Given the description of an element on the screen output the (x, y) to click on. 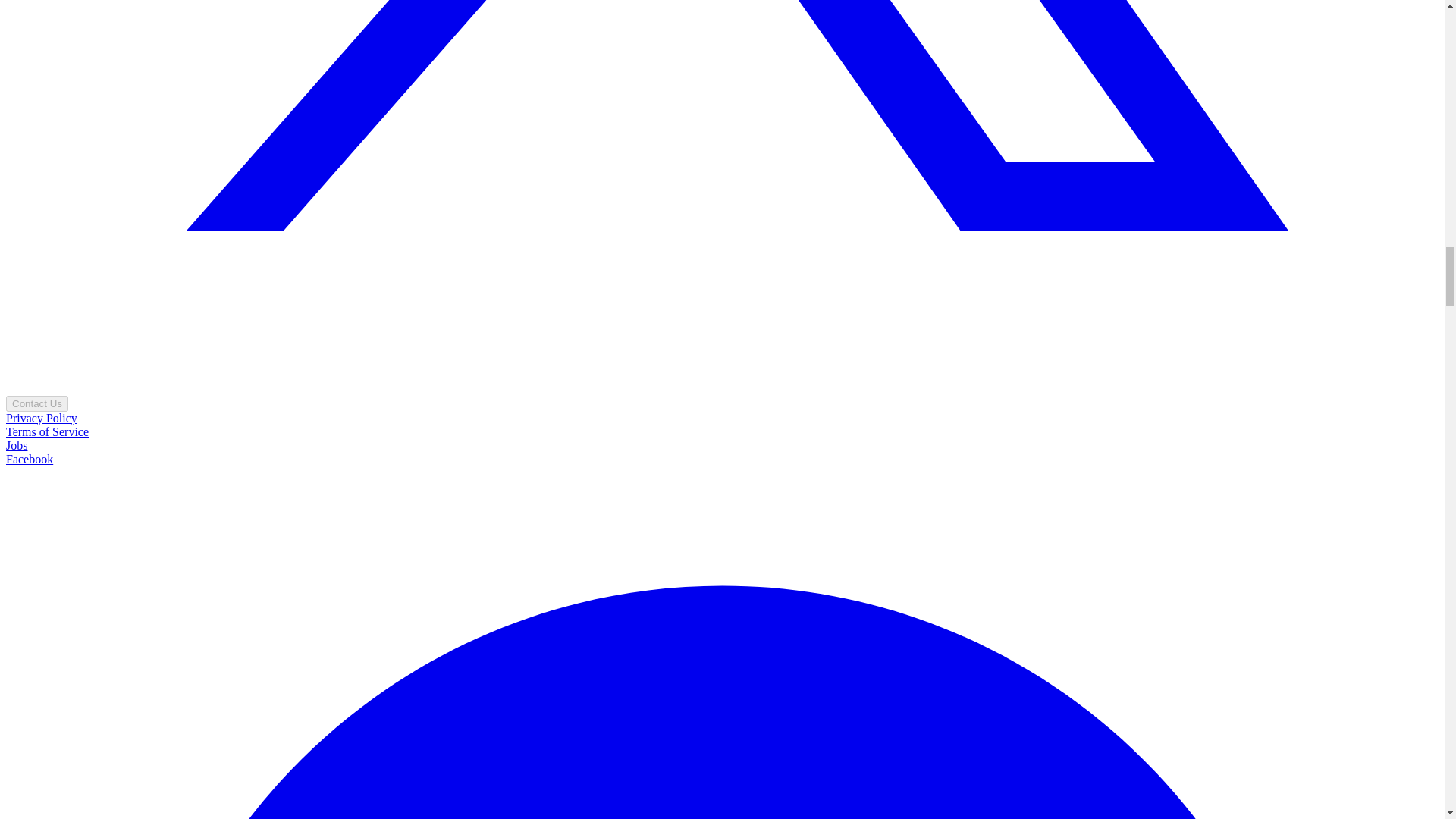
Privacy Policy (41, 418)
Terms of Service (46, 431)
Contact Us (36, 403)
Jobs (16, 445)
